Given the description of an element on the screen output the (x, y) to click on. 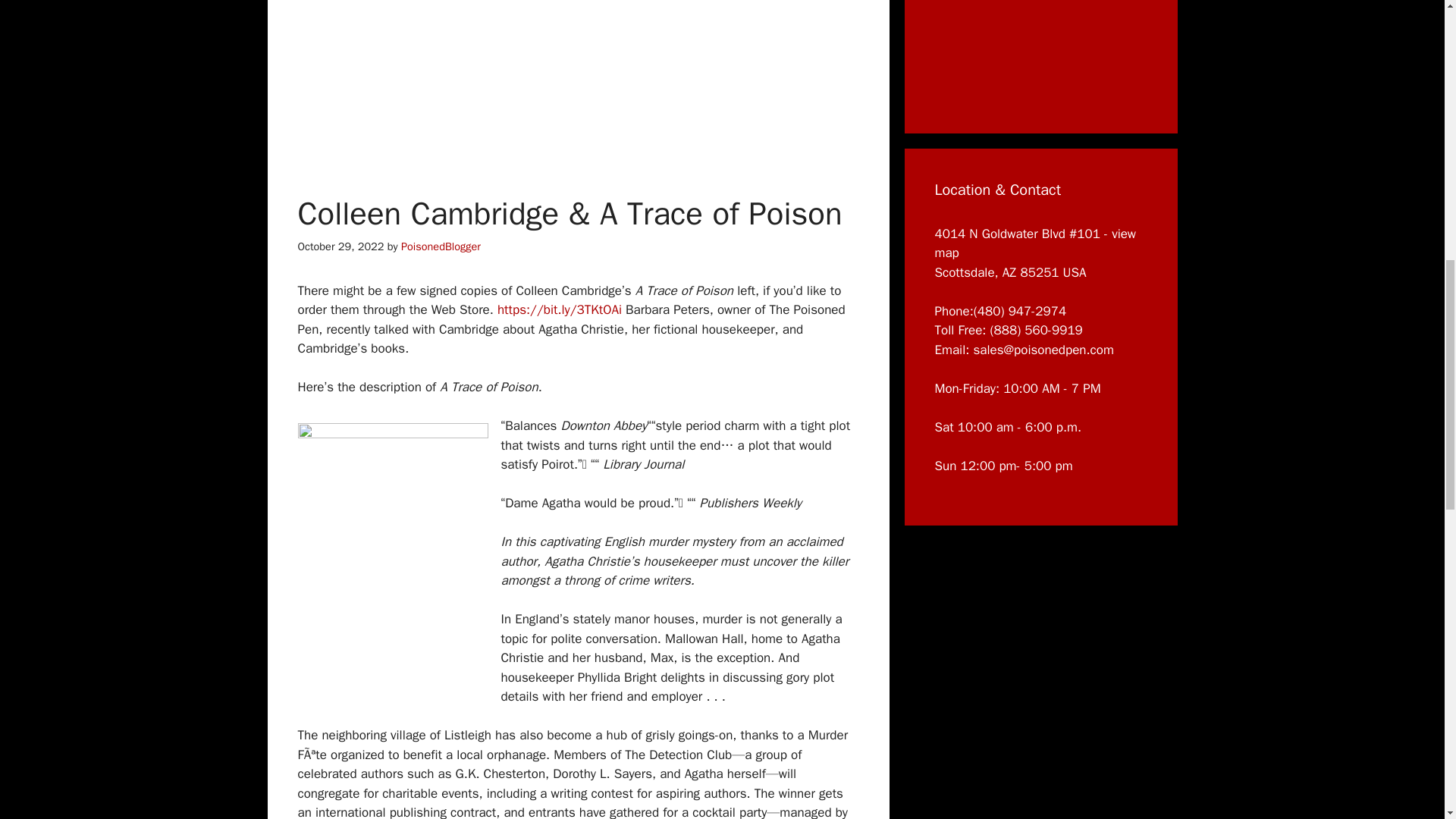
PoisonedBlogger (440, 246)
Scroll back to top (1406, 720)
View all posts by PoisonedBlogger (440, 246)
